Given the description of an element on the screen output the (x, y) to click on. 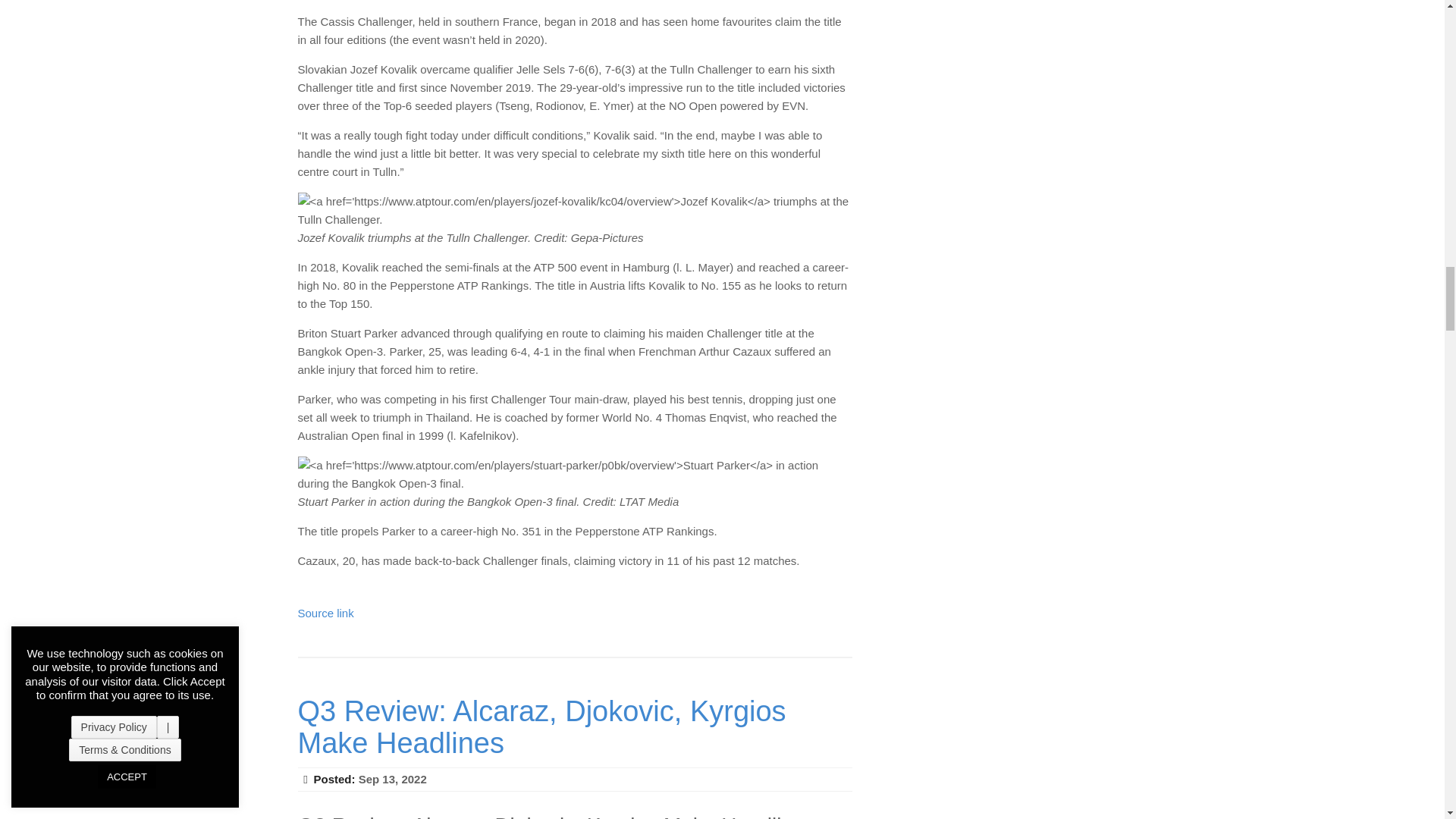
Source link (325, 612)
Q3 Review: Alcaraz, Djokovic, Kyrgios Make Headlines (541, 727)
